Given the description of an element on the screen output the (x, y) to click on. 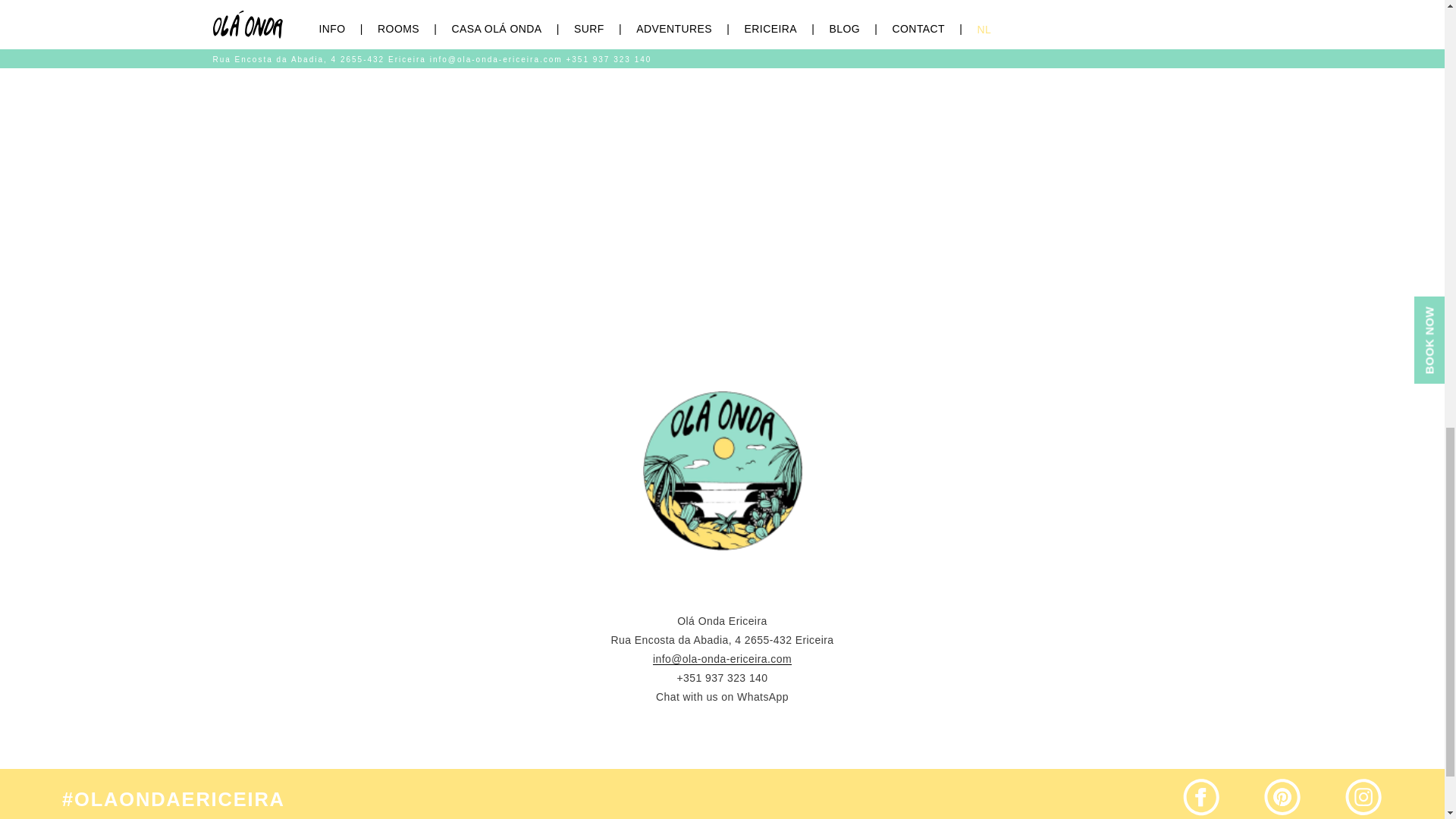
Chat with us on WhatsApp (722, 696)
